Given the description of an element on the screen output the (x, y) to click on. 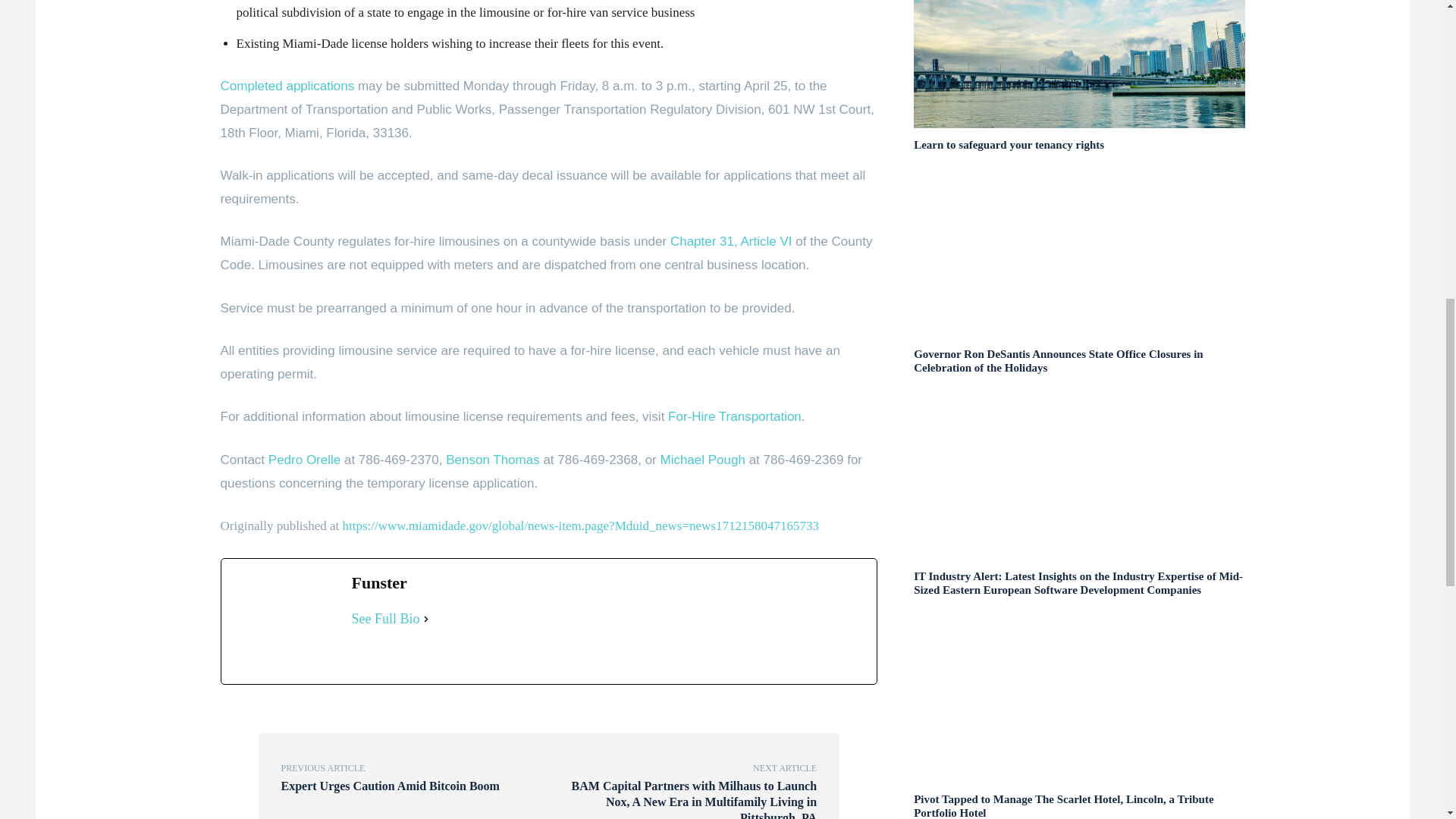
Learn to safeguard your tenancy rights (1008, 144)
Chapter 31, Article VI (730, 241)
Expert Urges Caution Amid Bitcoin Boom (390, 785)
